Given the description of an element on the screen output the (x, y) to click on. 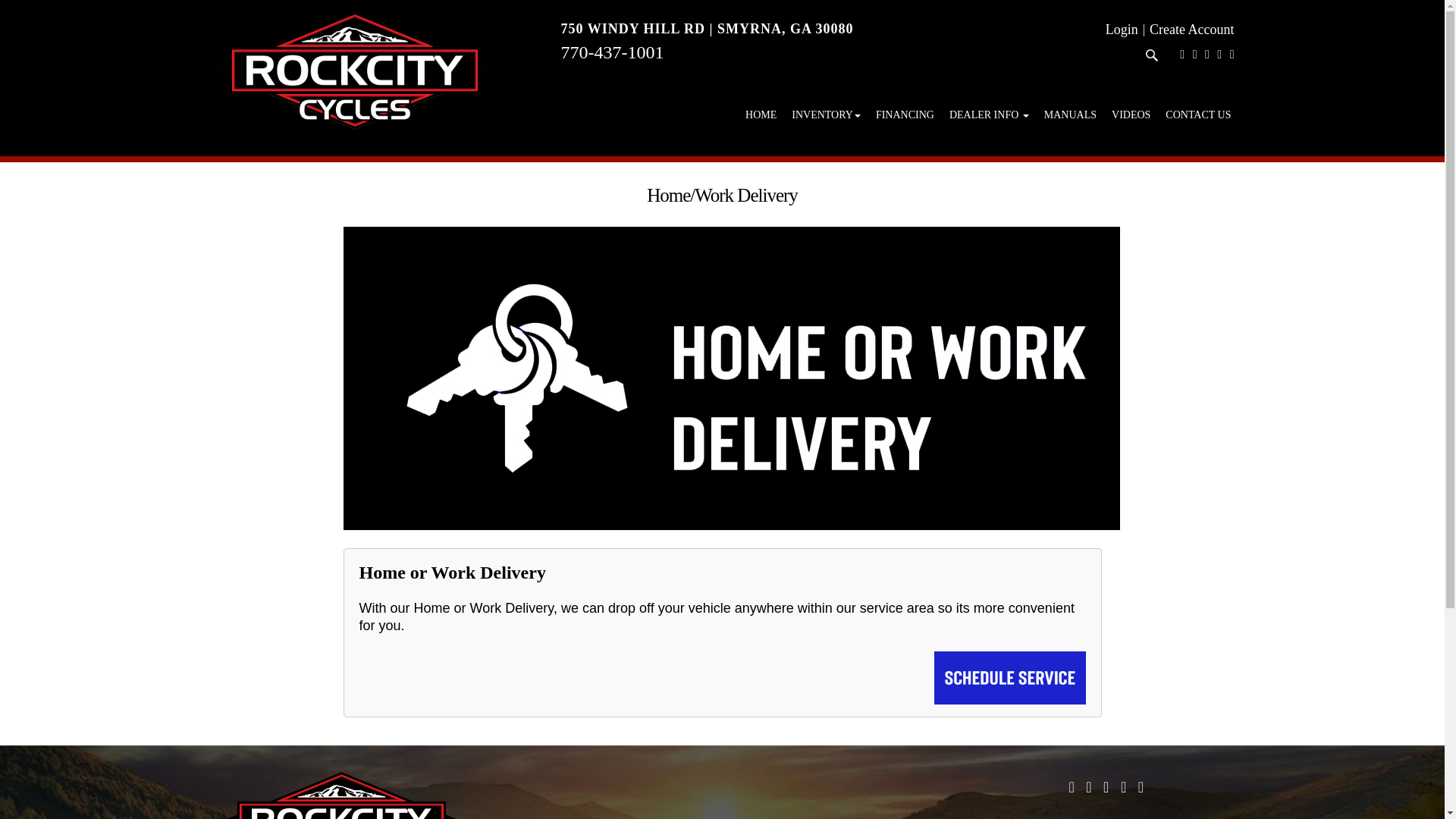
HOME (761, 113)
Login (1121, 29)
footer logo (340, 795)
770-437-1001 (611, 52)
VIDEOS (1130, 113)
DEALER INFO (989, 113)
search icon (1151, 55)
header logo (355, 70)
CONTACT US (1198, 113)
Create Account (1191, 29)
MANUALS (1069, 113)
INVENTORY (825, 113)
FINANCING (904, 113)
